Given the description of an element on the screen output the (x, y) to click on. 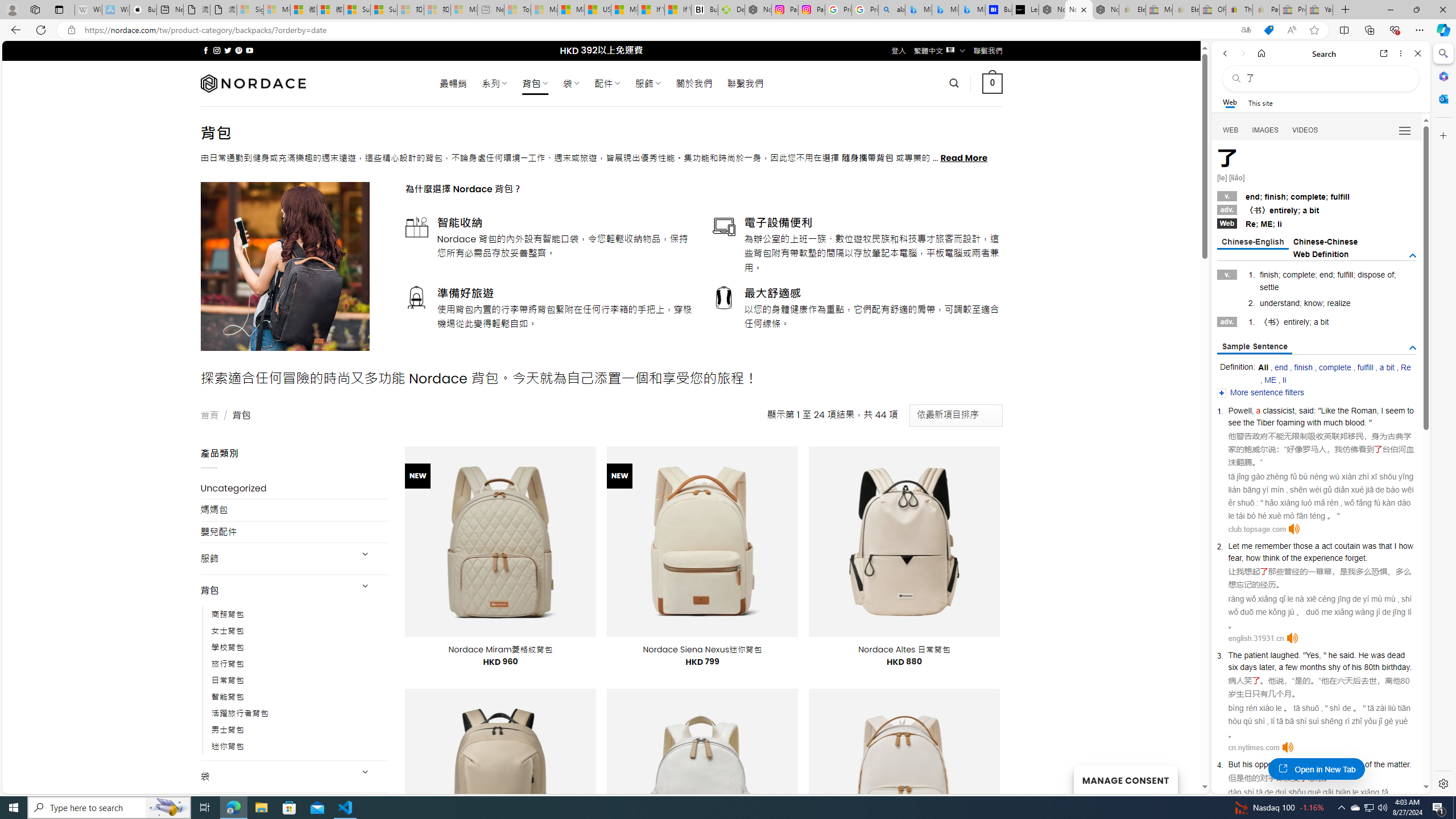
laughed (1283, 655)
birthday (1395, 666)
said (1346, 655)
The (1234, 655)
me (1246, 545)
" (1324, 655)
